Given the description of an element on the screen output the (x, y) to click on. 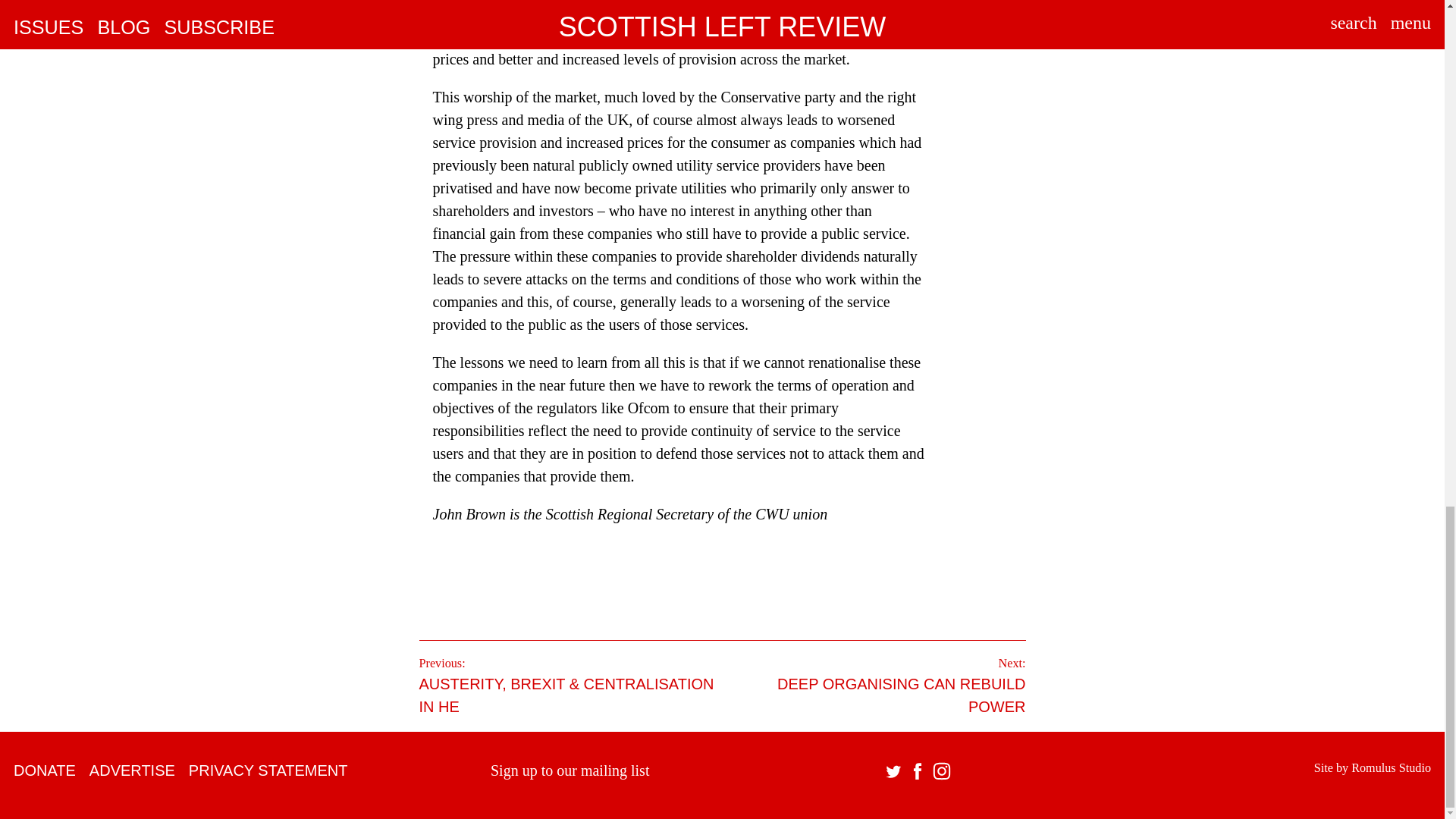
PRIVACY STATEMENT (877, 686)
Romulus Studio (268, 770)
DONATE (1391, 767)
ADVERTISE (44, 770)
